Given the description of an element on the screen output the (x, y) to click on. 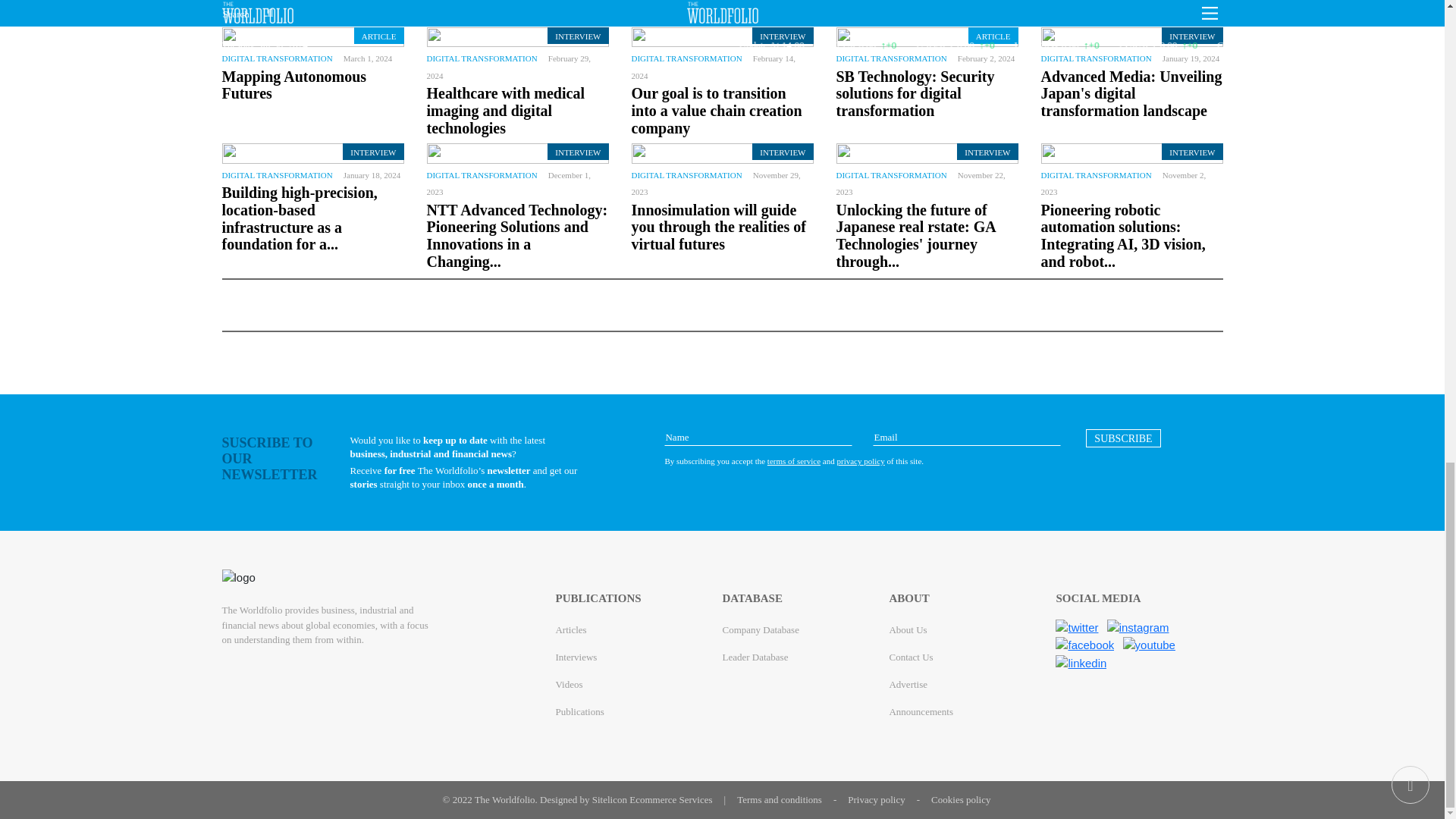
SUBSCRIBE (1123, 438)
